Given the description of an element on the screen output the (x, y) to click on. 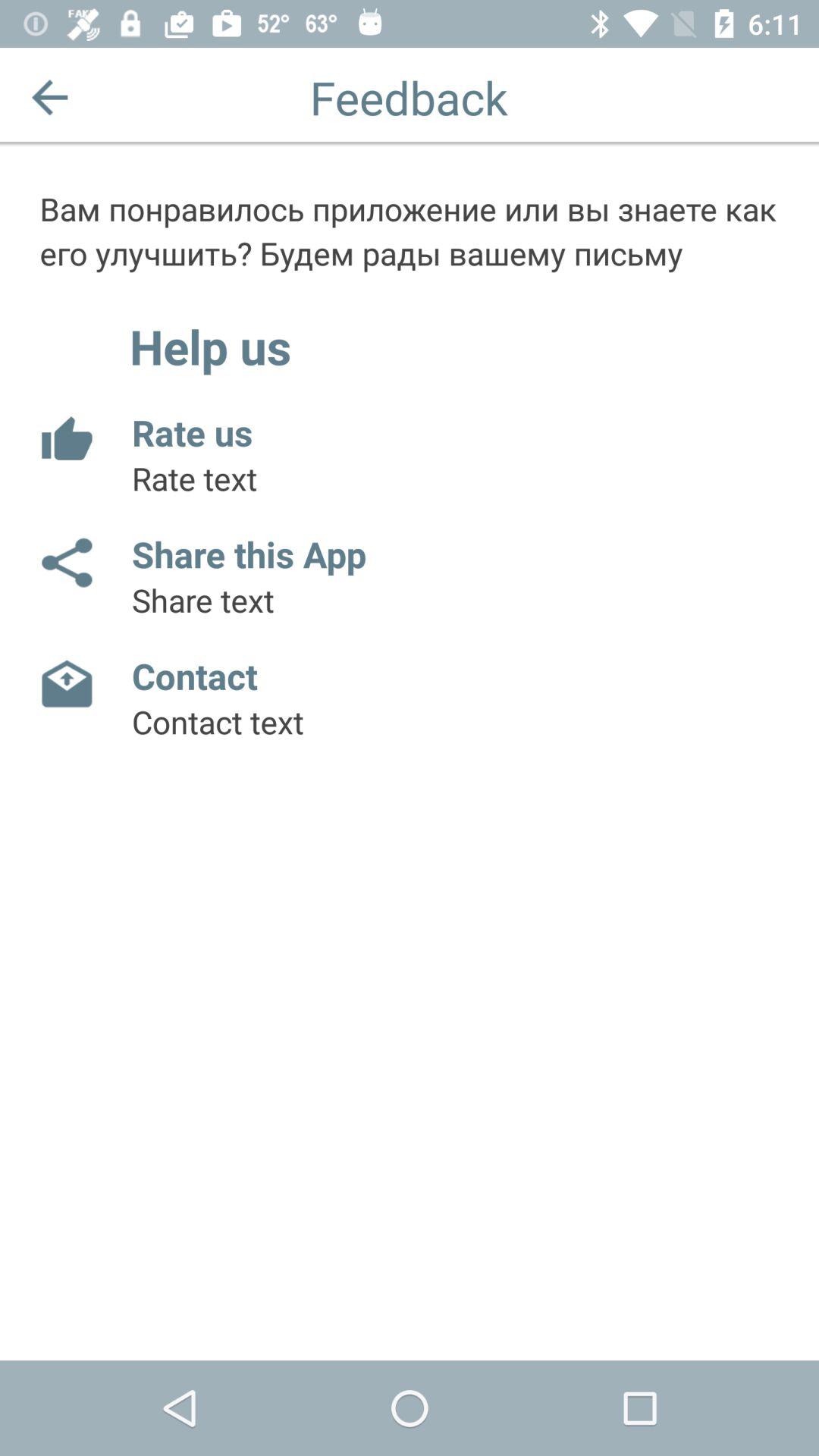
share this app (65, 562)
